Given the description of an element on the screen output the (x, y) to click on. 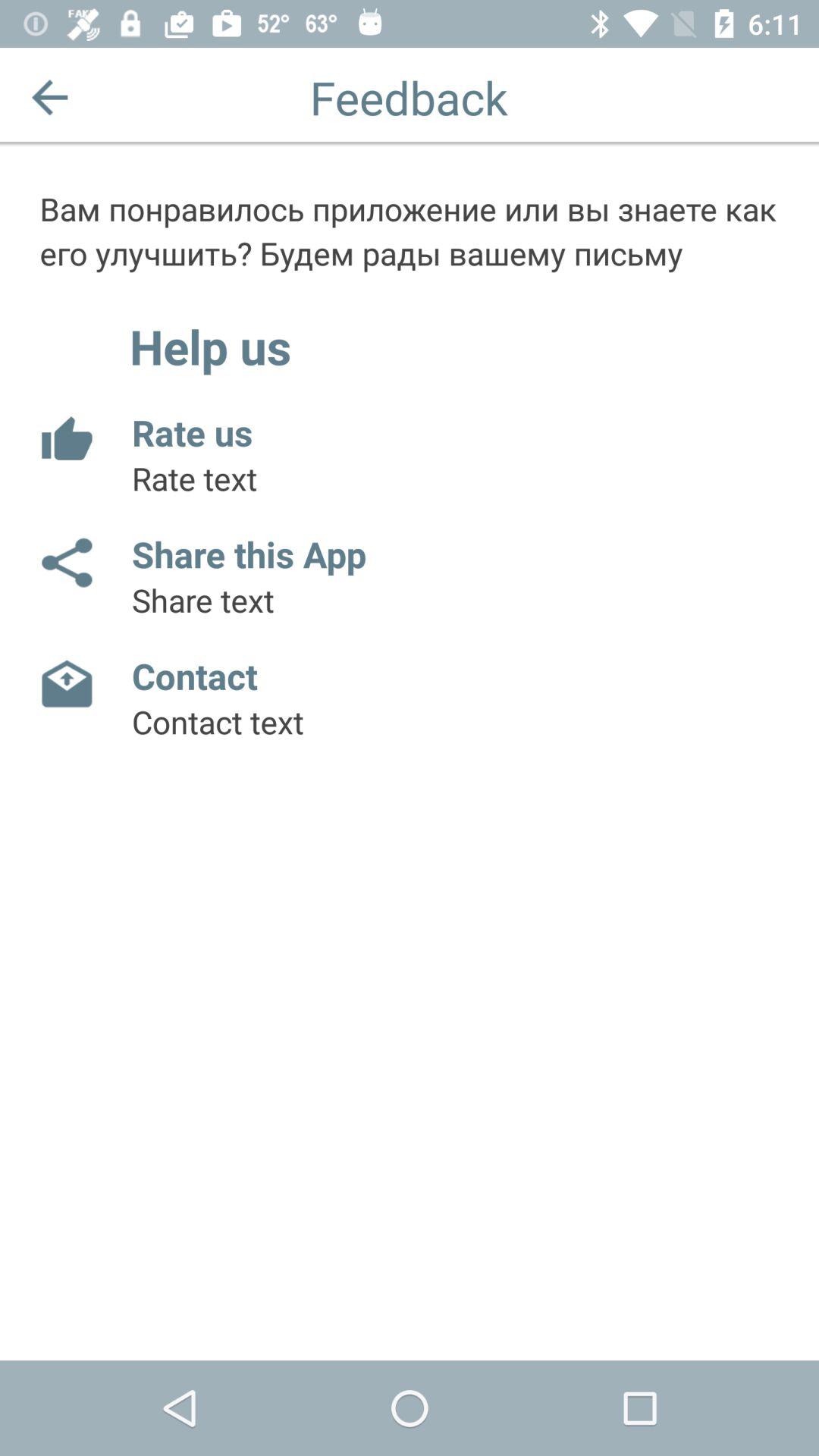
share this app (65, 562)
